Given the description of an element on the screen output the (x, y) to click on. 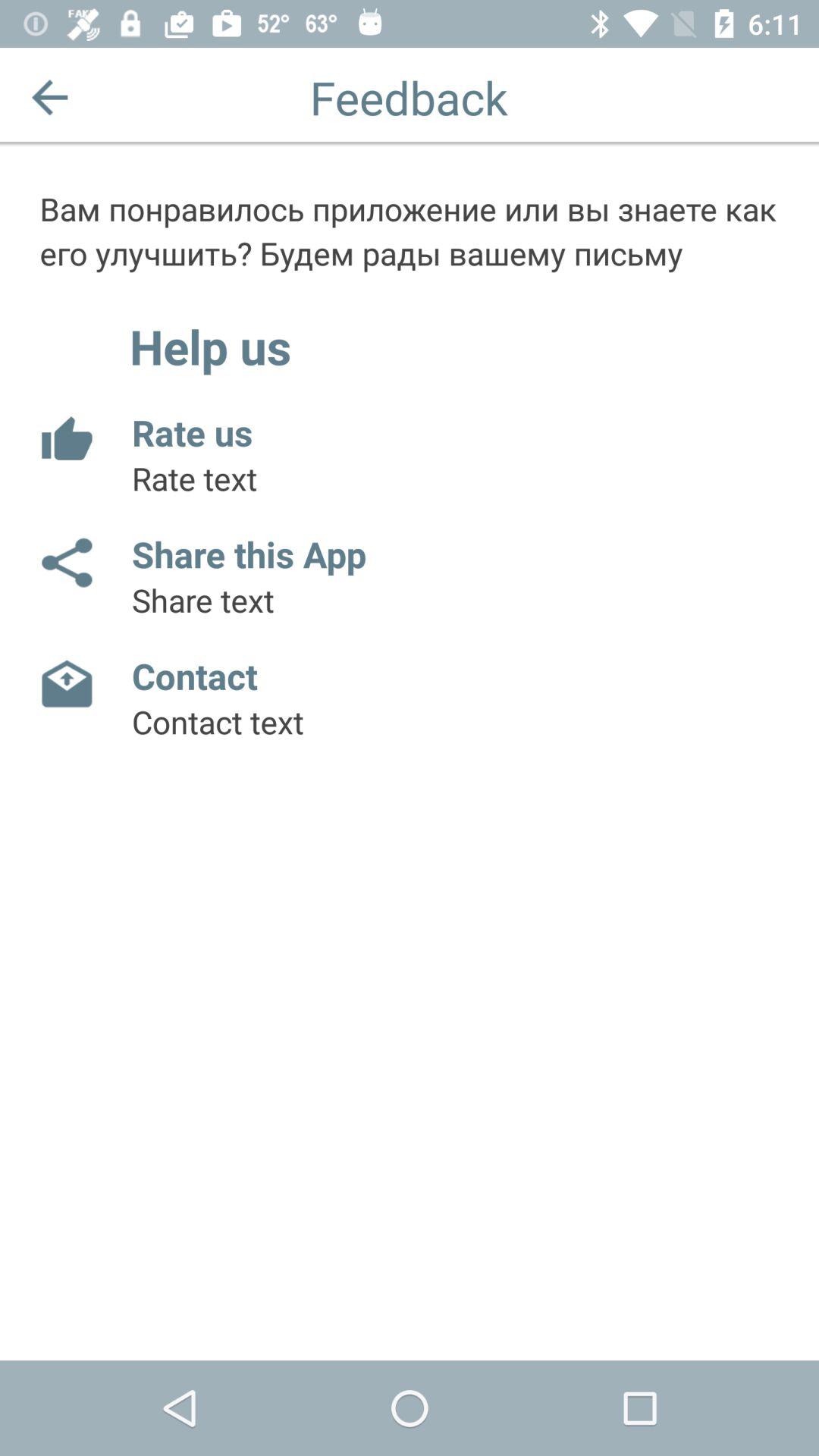
share this app (65, 562)
